Given the description of an element on the screen output the (x, y) to click on. 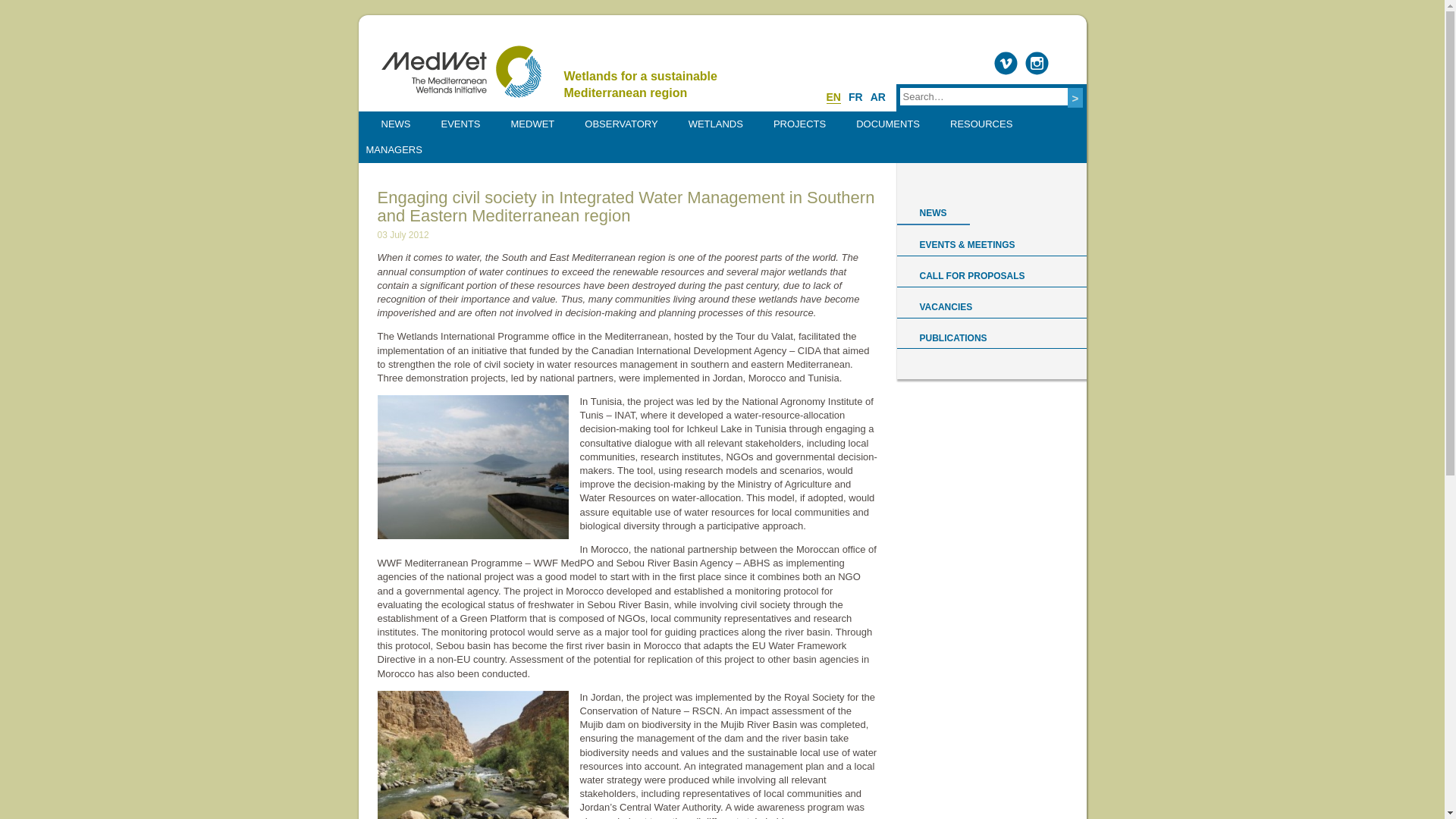
MANAGERS (393, 149)
MedWet (460, 71)
OBSERVATORY (620, 124)
MedWet (460, 71)
EVENTS (460, 124)
MEDWET (532, 124)
NEWS (394, 124)
Mujib river- Jordan. Photo Credit: Mailis Renaudin (473, 755)
Ichkeul, Tunisia. Photo credit: Mailis Renaudin (473, 466)
